Given the description of an element on the screen output the (x, y) to click on. 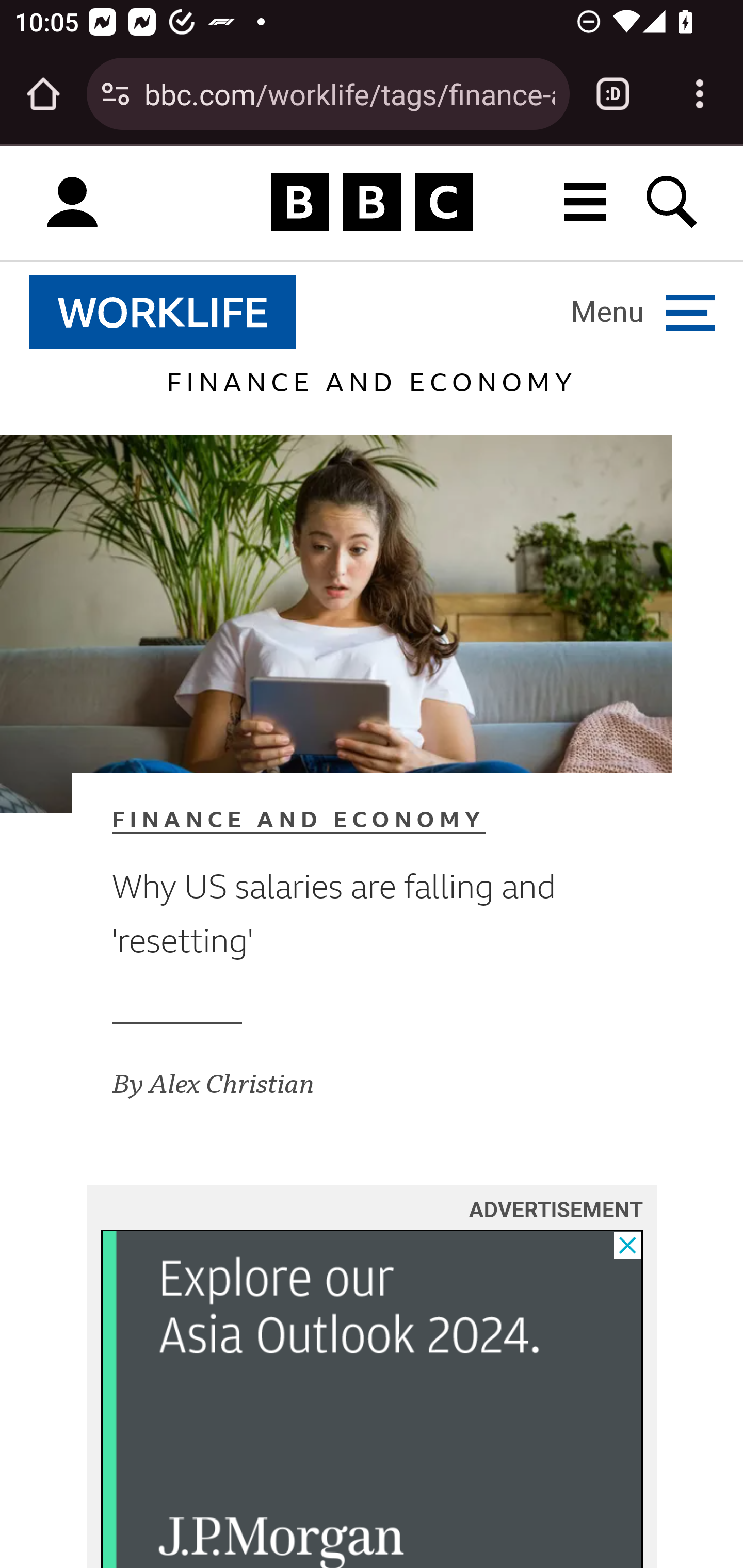
Open the home page (43, 93)
Connection is secure (115, 93)
Switch or close tabs (612, 93)
Customize and control Google Chrome (699, 93)
bbc.com/worklife/tags/finance-and-economy (349, 92)
All BBC destinations menu (585, 202)
Search BBC (672, 202)
Sign in (71, 203)
Homepage (371, 203)
Open more navigation (643, 311)
worklife (162, 311)
FINANCE AND ECONOMY (339, 819)
Why US salaries are falling and 'resetting' (339, 914)
